Given the description of an element on the screen output the (x, y) to click on. 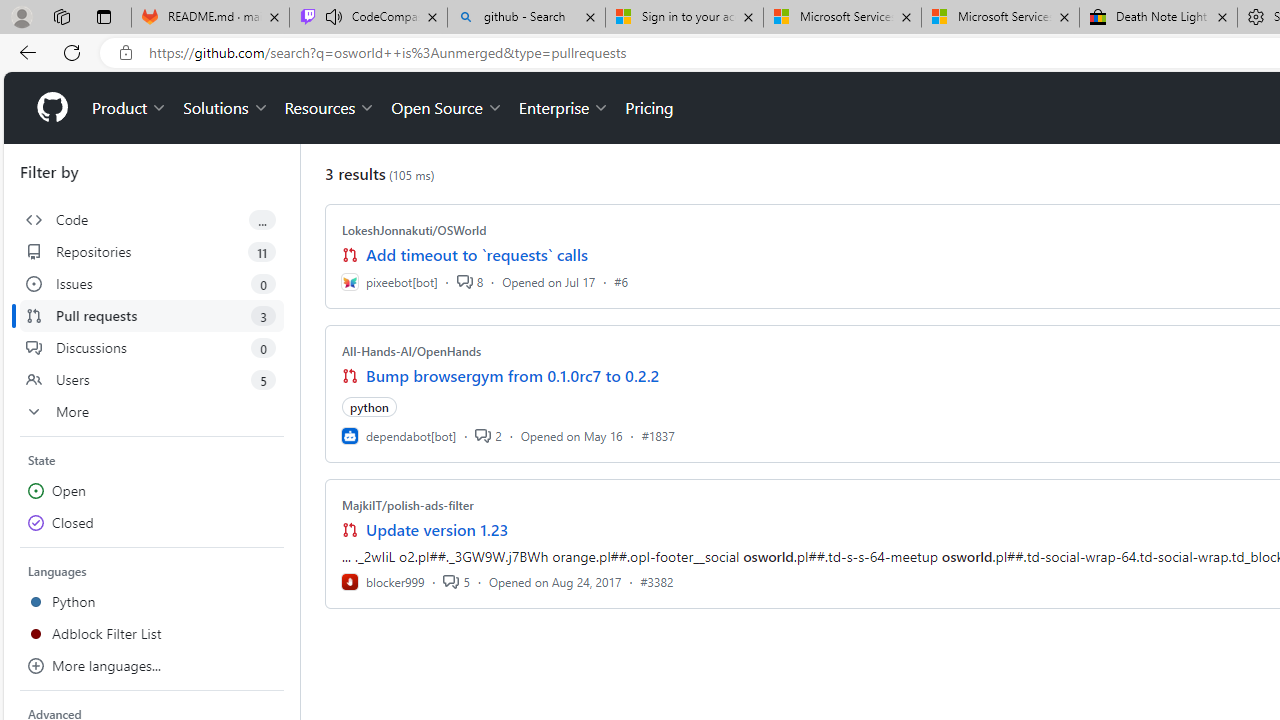
More languages... (152, 665)
More (152, 411)
Mute tab (333, 16)
blocker999 (382, 581)
Product (130, 107)
Open Source (446, 107)
